Given the description of an element on the screen output the (x, y) to click on. 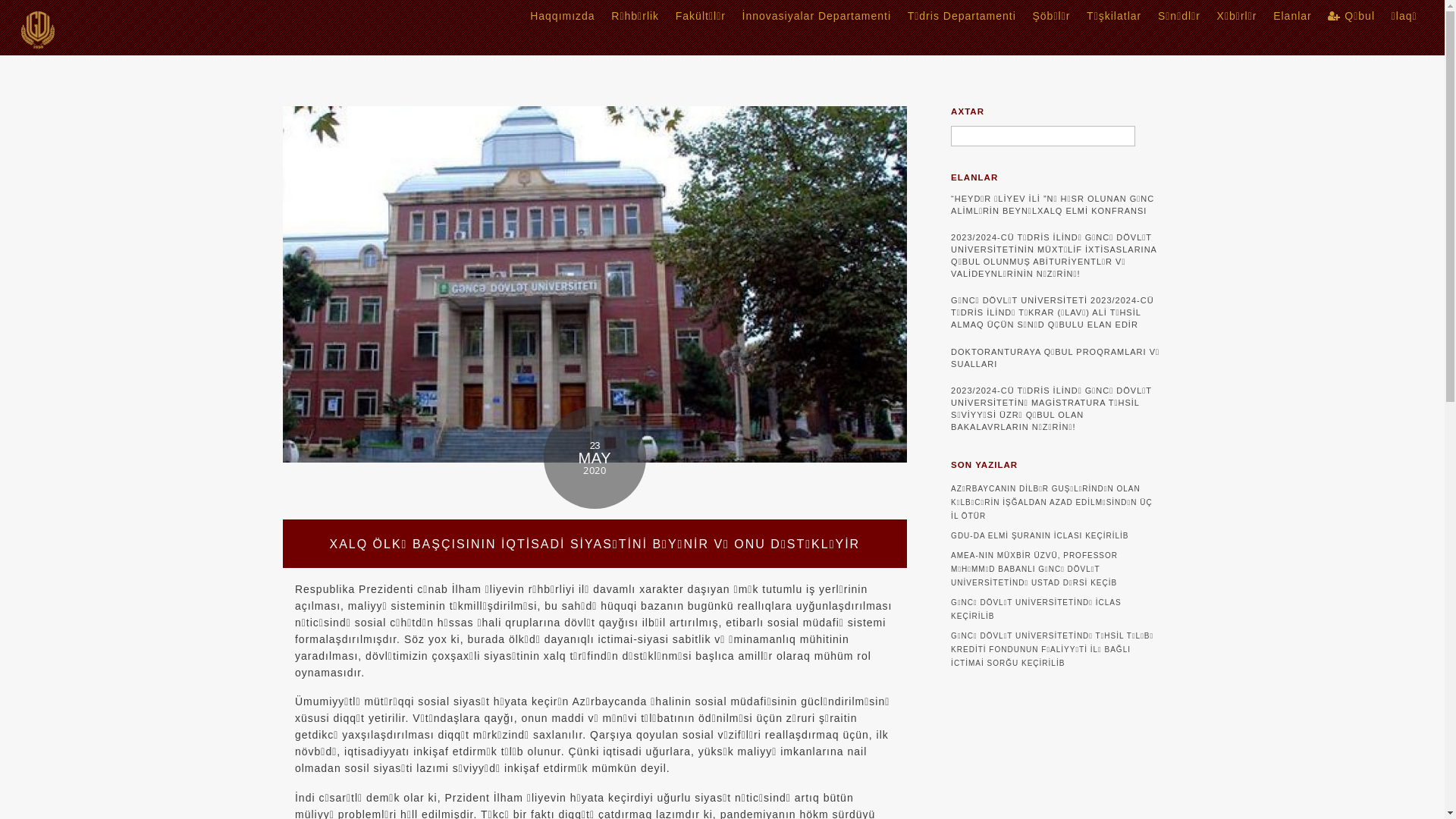
Search Element type: hover (1042, 135)
Elanlar Element type: text (1292, 16)
